Given the description of an element on the screen output the (x, y) to click on. 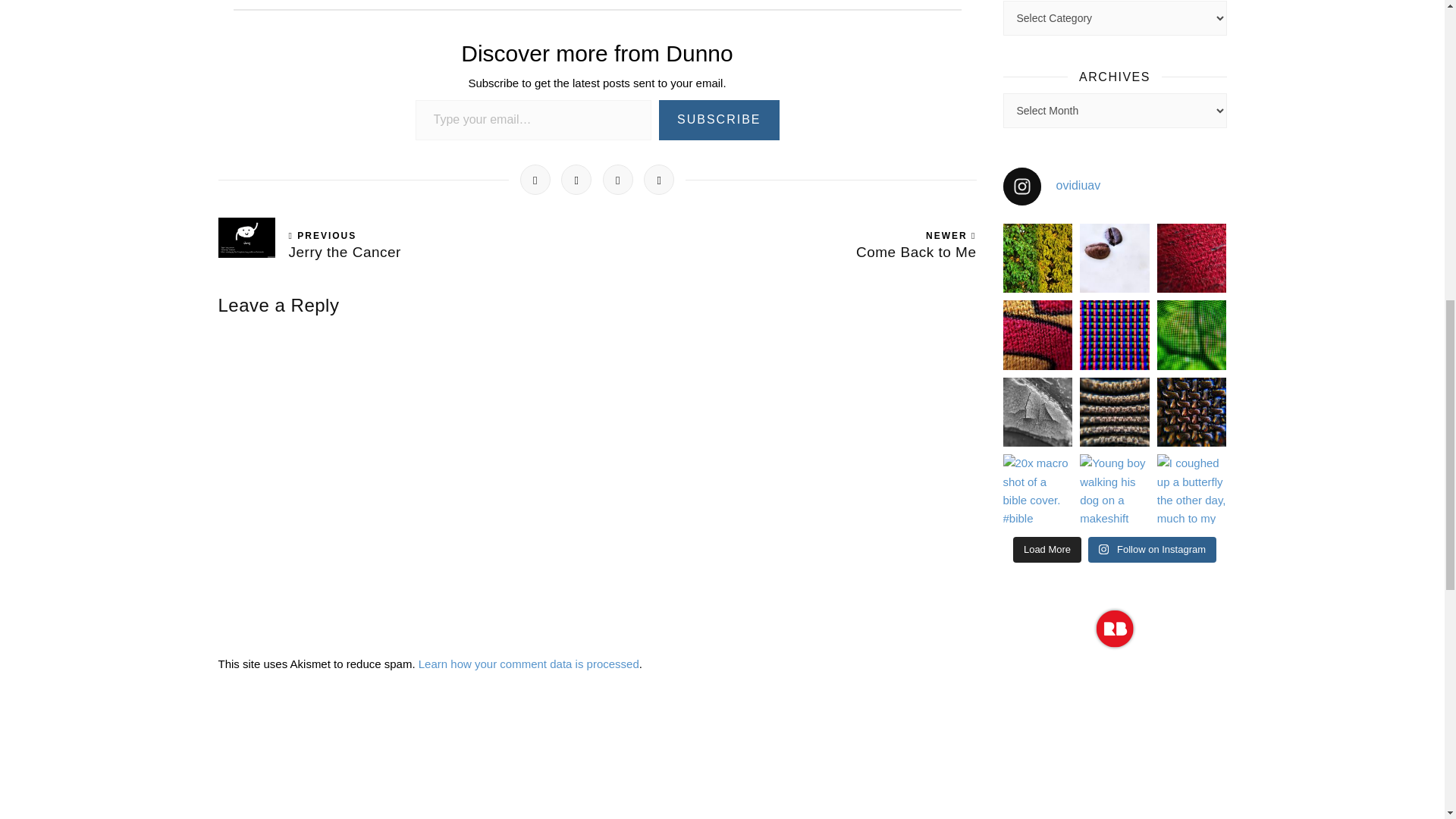
Redbubble (1114, 628)
ovidiuav (1114, 186)
Come Back to Me (786, 258)
Jerry the Cancer (407, 258)
SUBSCRIBE (718, 119)
Please fill in this field. (533, 119)
Learn how your comment data is processed (529, 663)
